Given the description of an element on the screen output the (x, y) to click on. 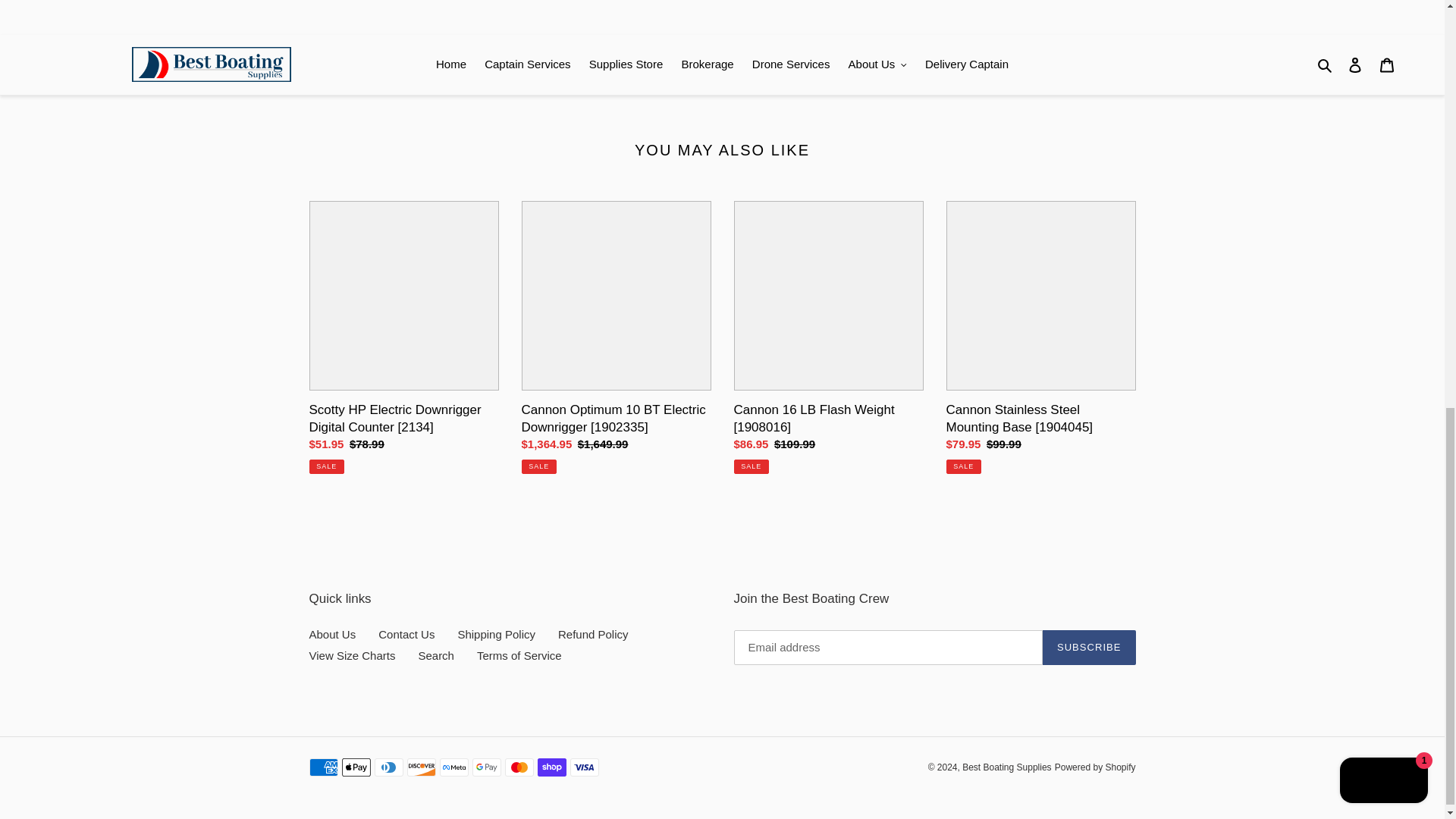
About Us (332, 634)
